Given the description of an element on the screen output the (x, y) to click on. 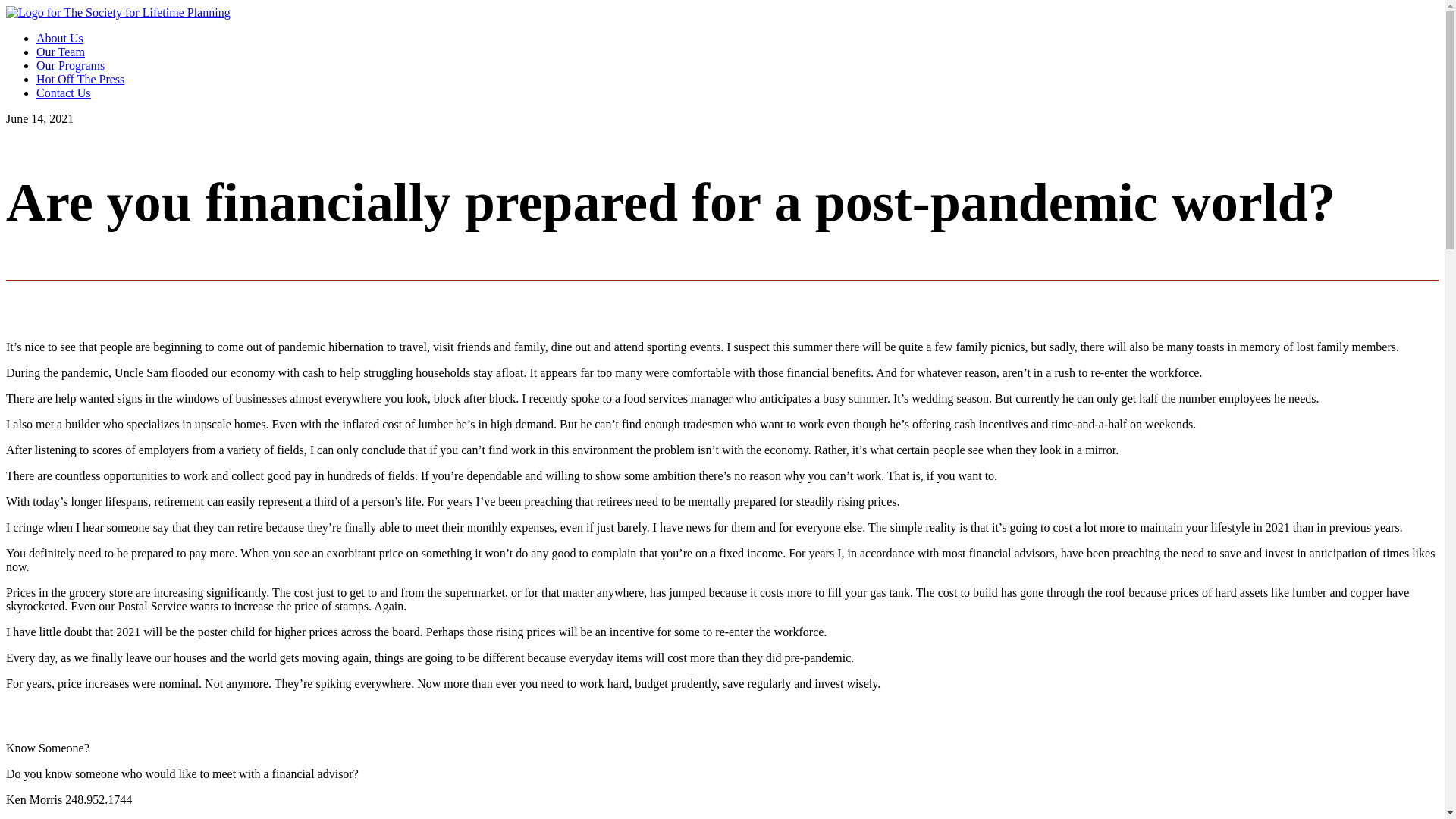
Hot Off The Press (79, 78)
Contact Us (63, 92)
About Us (59, 38)
Our Team (60, 51)
Our Programs (70, 65)
